Given the description of an element on the screen output the (x, y) to click on. 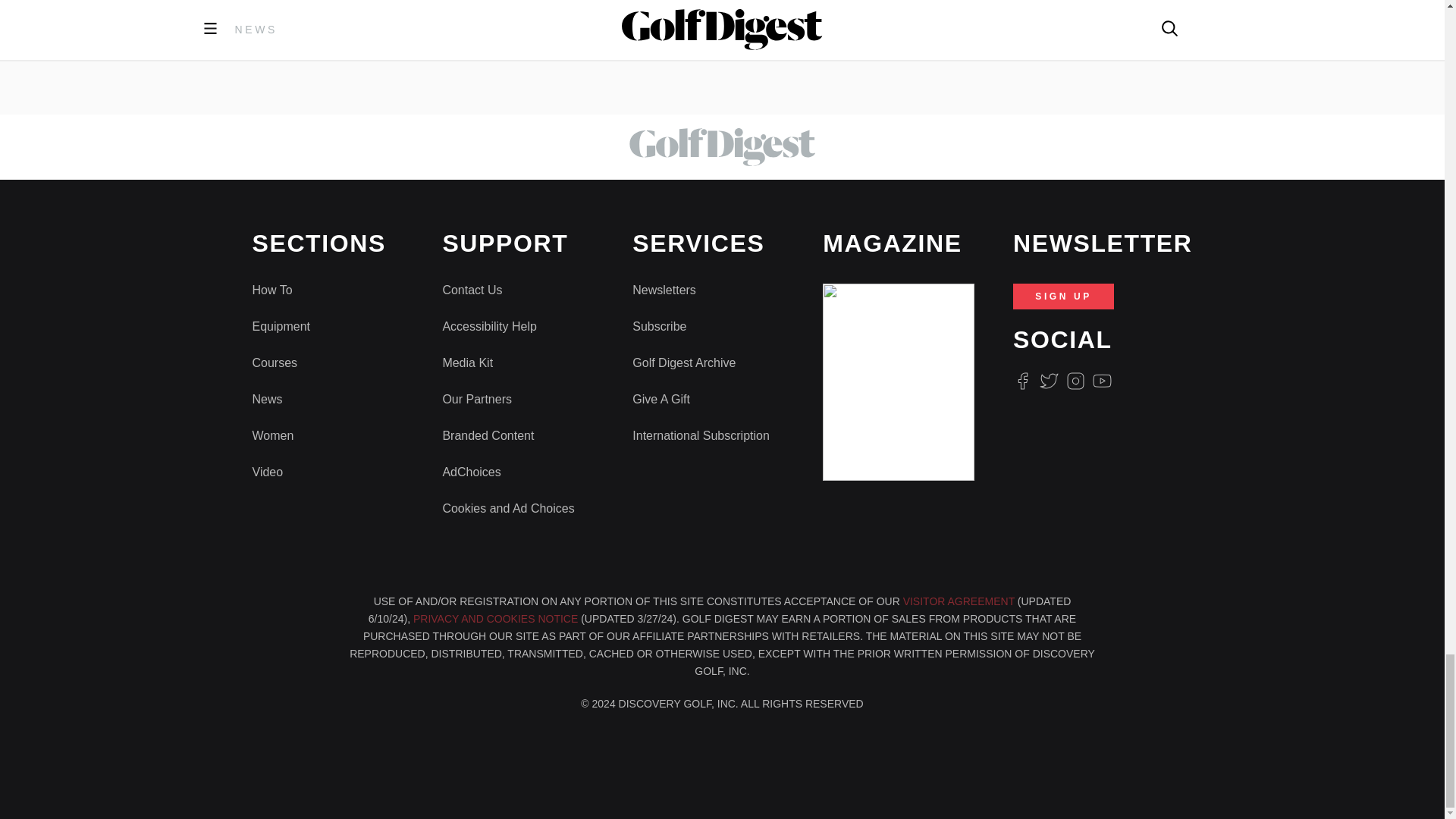
Facebook Logo (1022, 380)
Twitter Logo (1048, 380)
Instagram Logo (1074, 380)
Youtube Icon (1102, 380)
